Given the description of an element on the screen output the (x, y) to click on. 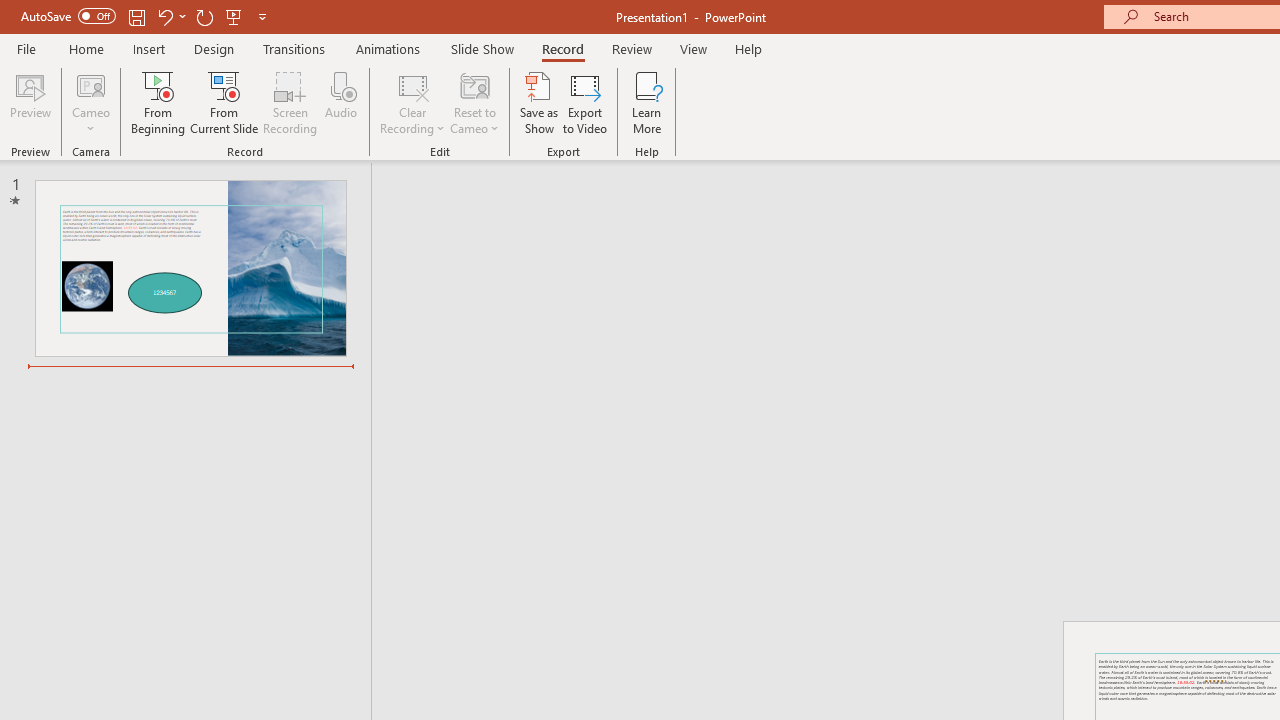
System (10, 11)
Learn More (646, 102)
Record (562, 48)
Undo (164, 15)
Design (214, 48)
